Given the description of an element on the screen output the (x, y) to click on. 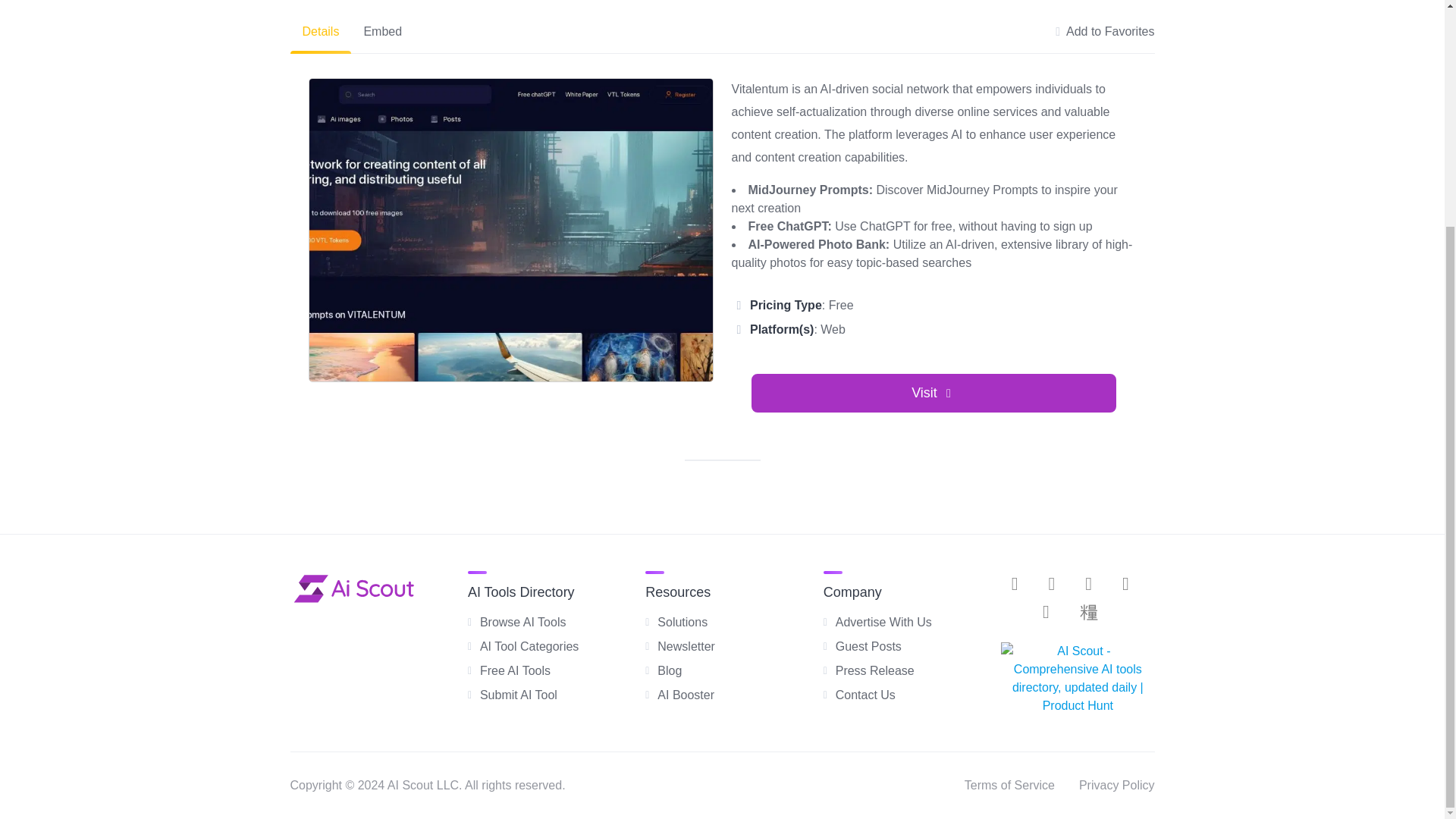
Browse AI Tools (523, 621)
Blog (669, 670)
Embed (381, 31)
Submit AI Tool (518, 694)
Solutions (682, 621)
Details (320, 31)
Newsletter (686, 645)
Add to Favorites (1104, 31)
AI Tool Categories (529, 645)
Free AI Tools (515, 670)
